Given the description of an element on the screen output the (x, y) to click on. 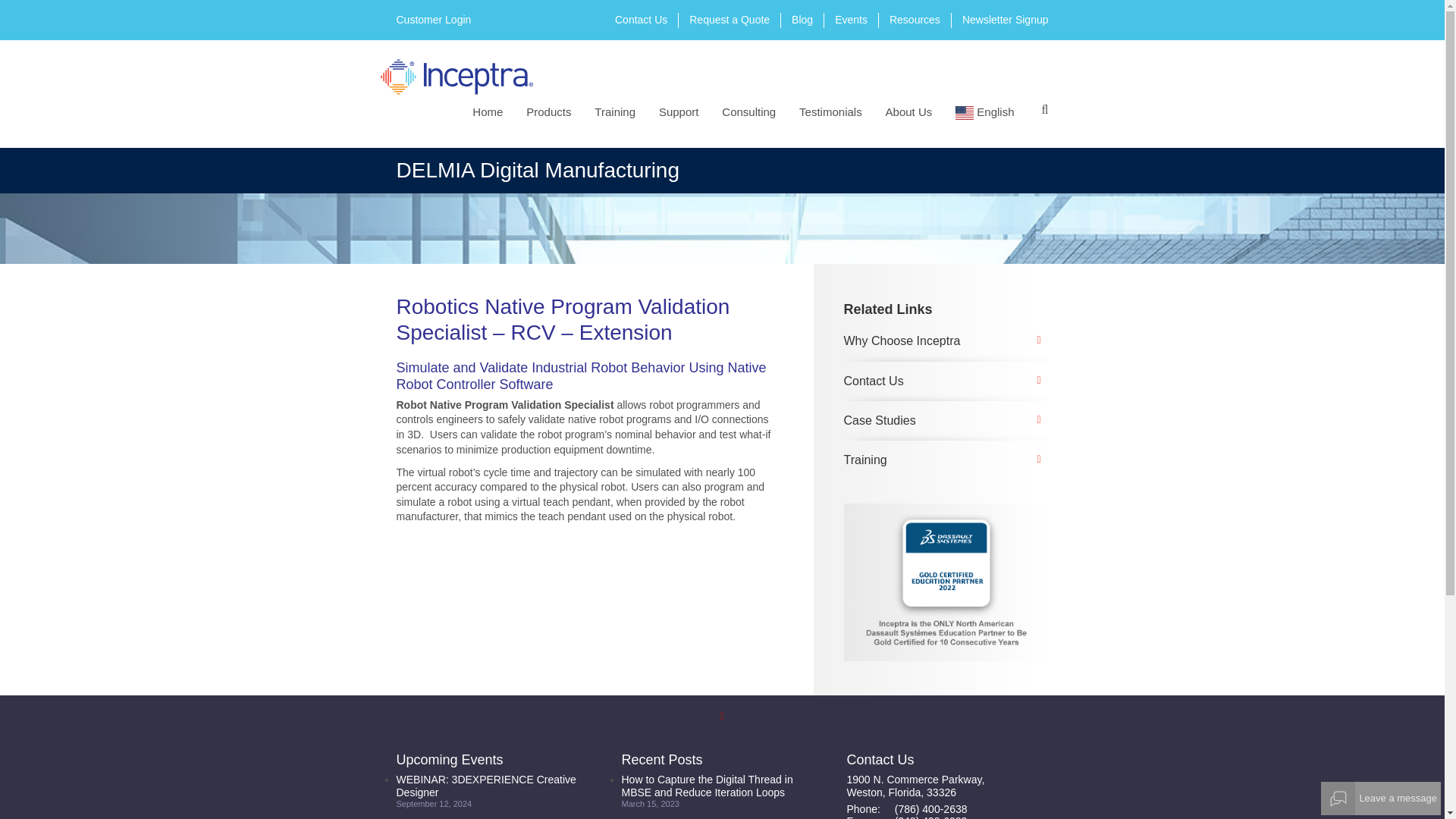
Products (551, 111)
Newsletter Signup (1005, 20)
Home (490, 111)
Contact Us (640, 20)
Consulting (751, 111)
Customer Login (433, 19)
Newsletter Signup (1005, 20)
Training (617, 111)
Blog (802, 20)
Testimonials (833, 111)
Support (681, 111)
Resources (914, 20)
Events (850, 20)
Blog (802, 20)
Contact Us (640, 20)
